Given the description of an element on the screen output the (x, y) to click on. 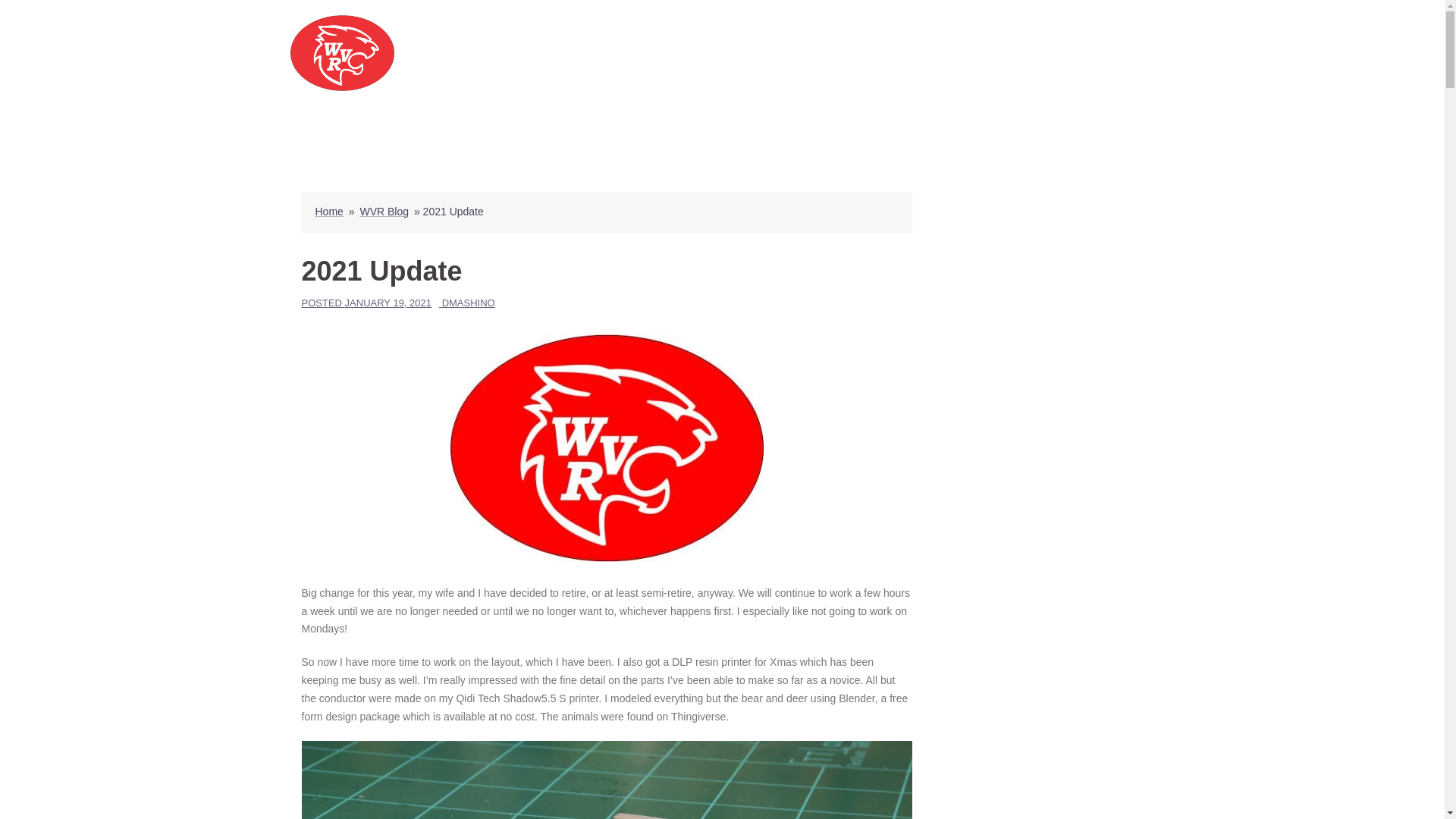
The Layout (711, 53)
Links (1061, 53)
Mashinos (341, 51)
Home (329, 211)
DMASHINO (468, 302)
My AP Journey (991, 53)
WVR Blog (384, 211)
Design (775, 53)
WVR Blog (1119, 53)
JANUARY 19, 2021 (387, 302)
Construction (843, 53)
Systems (915, 53)
